Given the description of an element on the screen output the (x, y) to click on. 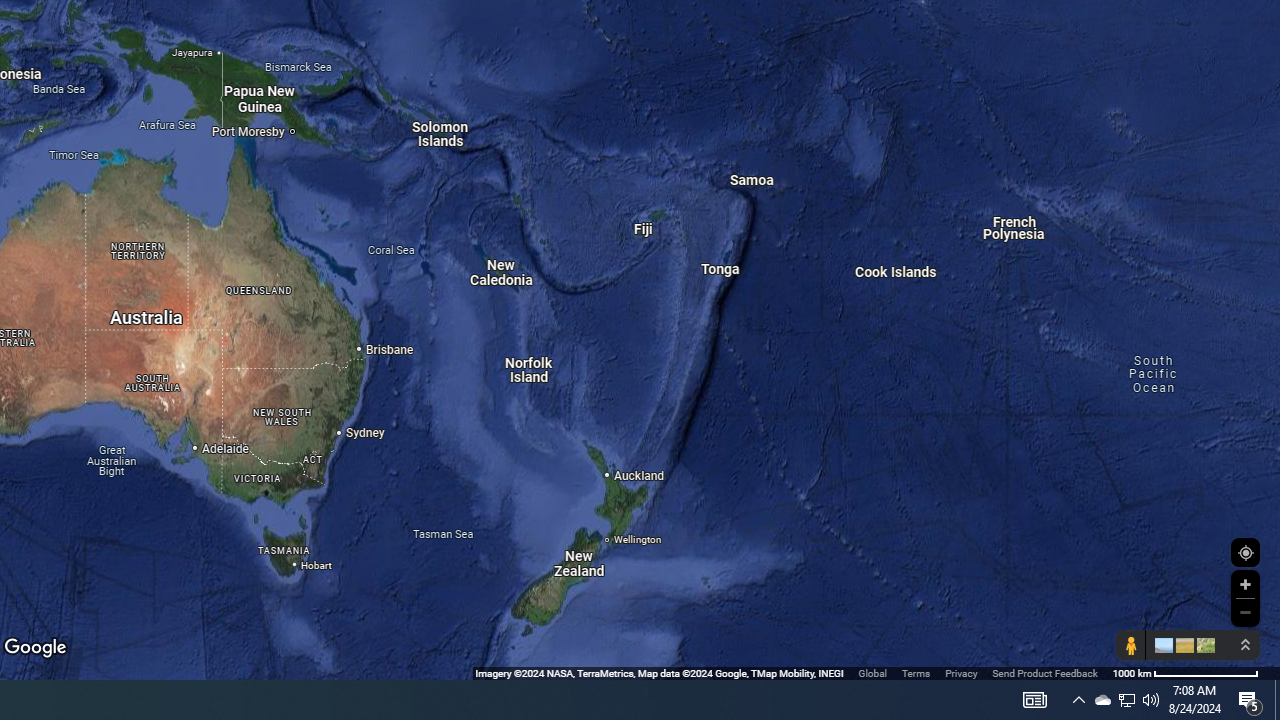
Show Your Location (1245, 552)
Send Product Feedback (1045, 672)
1000 km (1185, 672)
Show imagery (1202, 645)
Privacy (960, 672)
Zoom in (1245, 584)
Terms (916, 672)
Zoom out (1245, 612)
Show Street View coverage (1130, 645)
Global (872, 672)
